Given the description of an element on the screen output the (x, y) to click on. 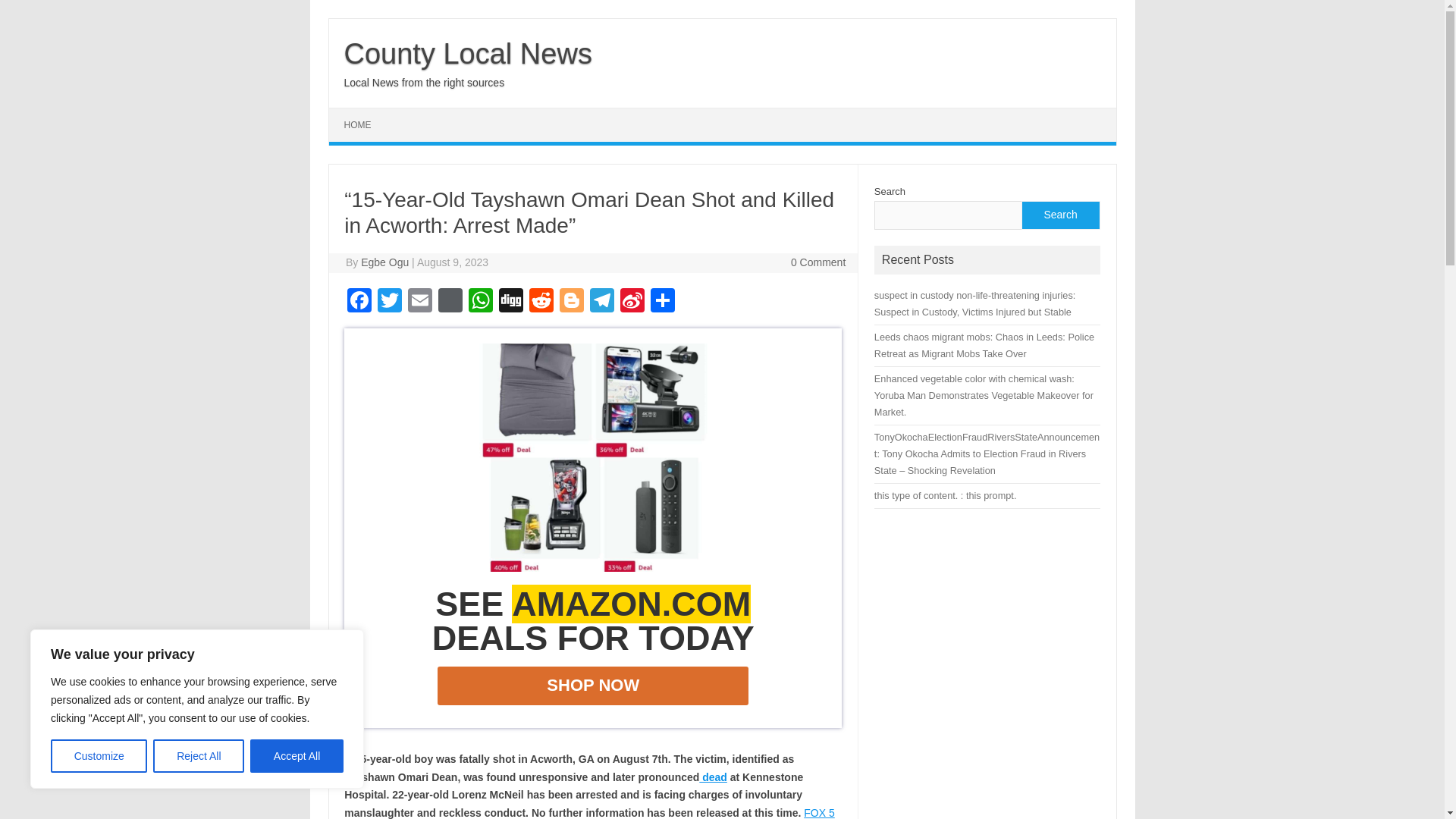
HOME (358, 124)
Reddit (540, 302)
Telegram (601, 302)
Sina Weibo (632, 302)
Egbe Ogu (385, 262)
WhatsApp (480, 302)
Facebook (358, 302)
Accept All (296, 756)
Digg (510, 302)
Twitter (389, 302)
Sina Weibo (632, 302)
WordPress (450, 302)
Blogger (571, 302)
WhatsApp (480, 302)
